Given the description of an element on the screen output the (x, y) to click on. 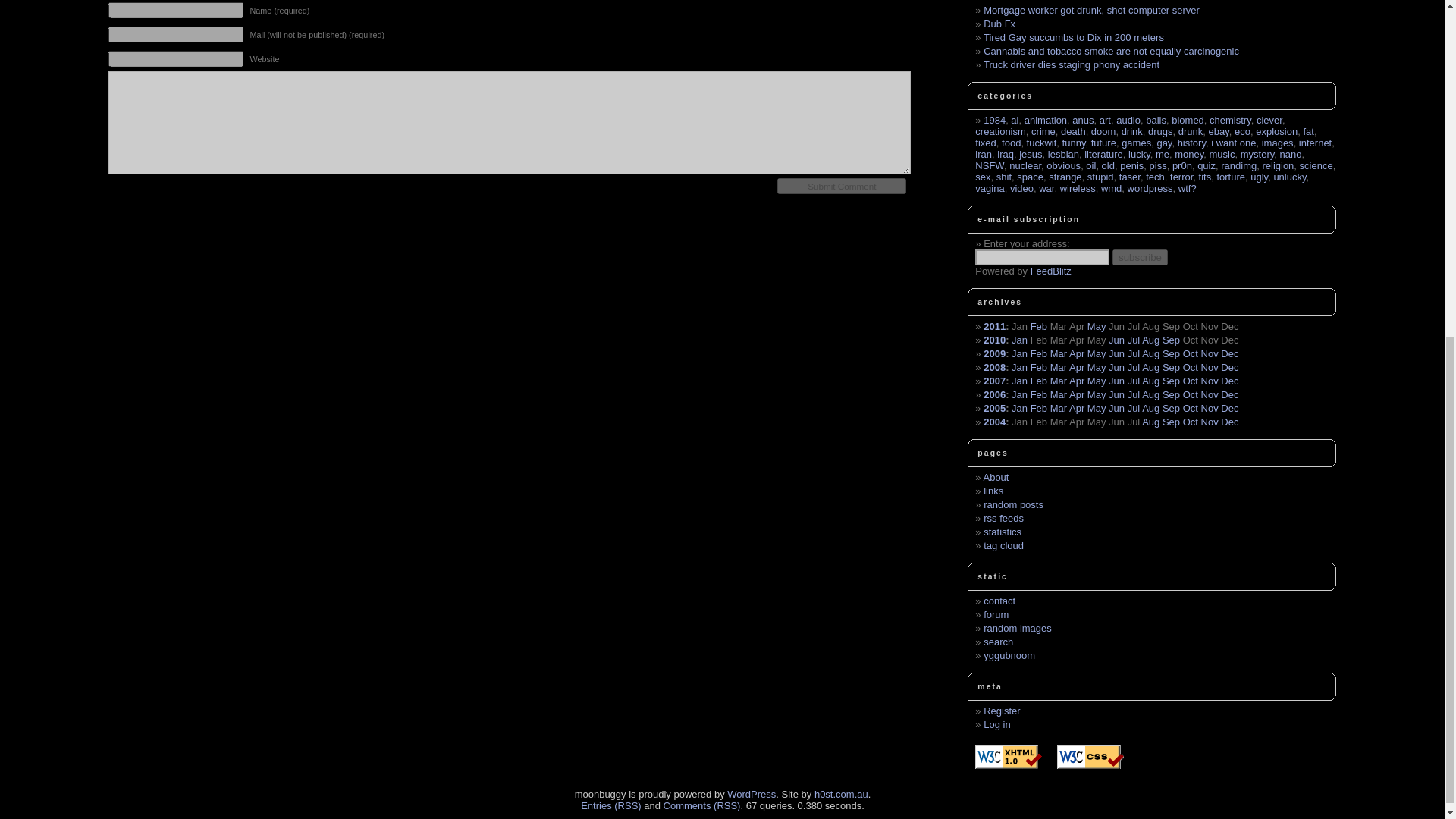
Submit Comment (841, 186)
Mortgage worker got drunk, shot computer server (1091, 9)
Dub Fx (999, 23)
1984 (995, 120)
Truck driver dies staging phony accident (1071, 64)
Tired Gay succumbs to Dix in 200 meters (1073, 37)
Advertisement (442, 284)
Submit Comment (841, 186)
subscribe (1139, 257)
Cannabis and tobacco smoke are not equally carcinogenic (1111, 50)
animation (1046, 120)
